Given the description of an element on the screen output the (x, y) to click on. 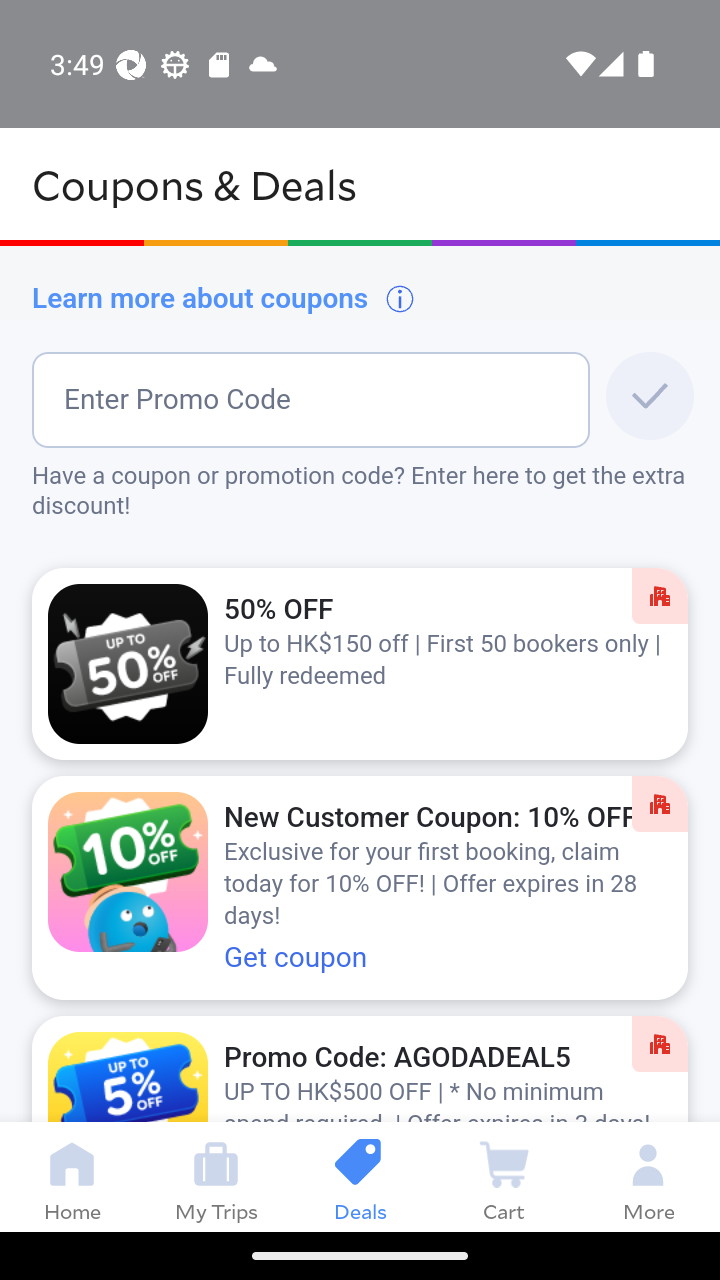
Learn more about coupons (224, 298)
Home (72, 1176)
My Trips (216, 1176)
Deals (360, 1176)
Cart (504, 1176)
More (648, 1176)
